Given the description of an element on the screen output the (x, y) to click on. 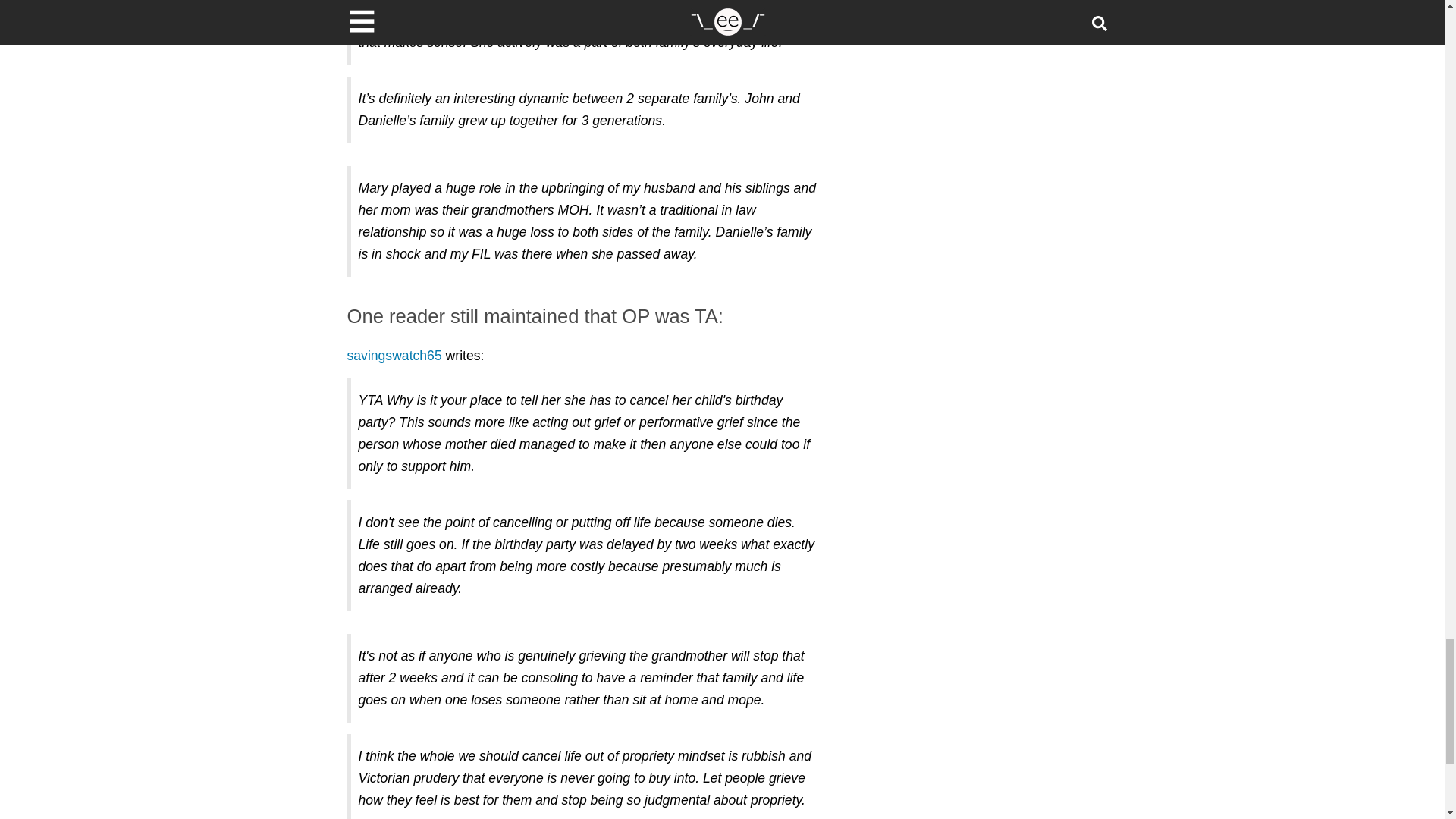
savingswatch65 (394, 355)
